Given the description of an element on the screen output the (x, y) to click on. 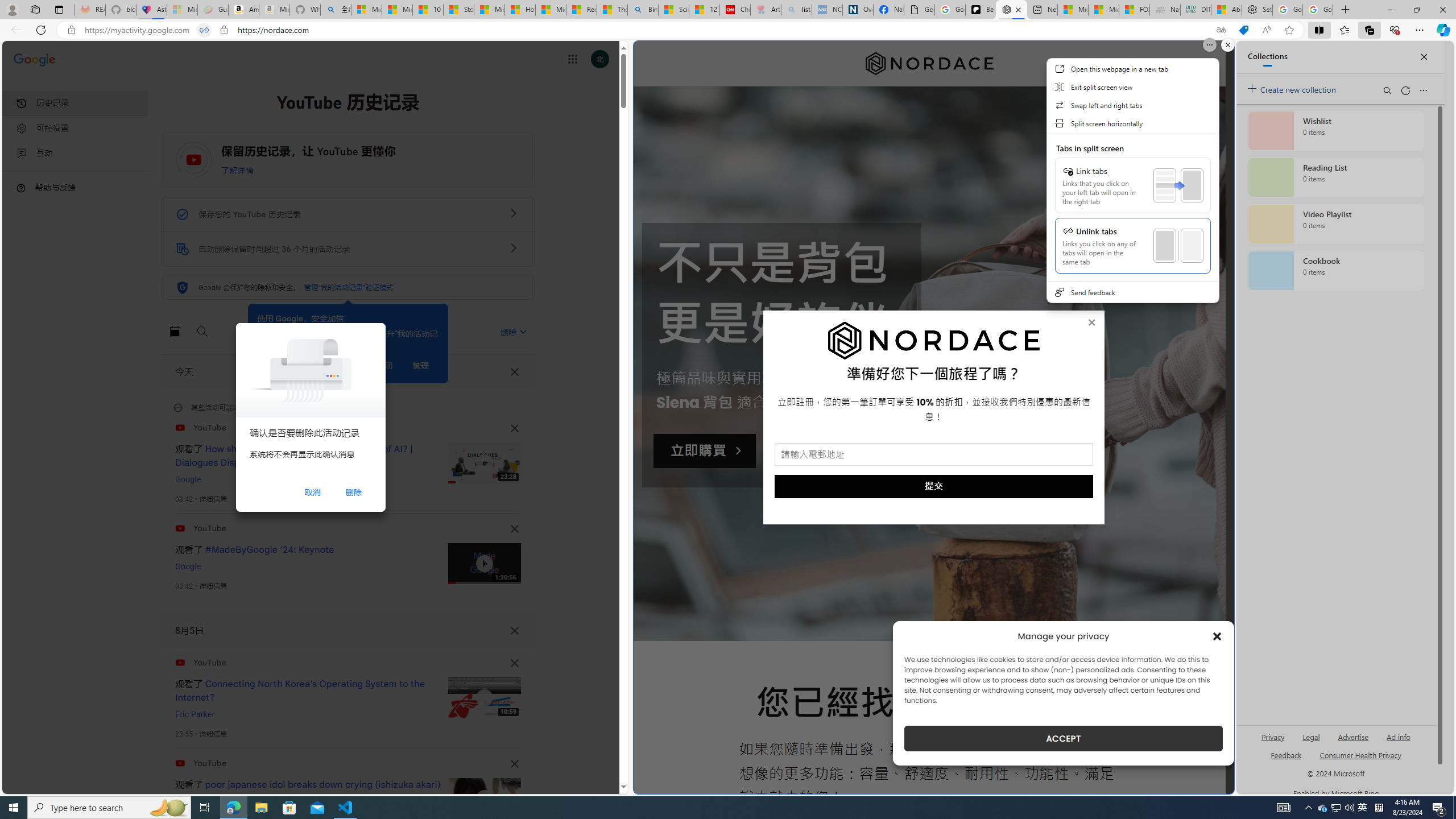
This site has coupons! Shopping in Microsoft Edge (1243, 29)
Split screen horizontally (1132, 123)
Tabs in split screen (203, 29)
12 Popular Science Lies that Must be Corrected (704, 9)
Google Analytics Opt-out Browser Add-on Download Page (919, 9)
Aberdeen, Hong Kong SAR hourly forecast | Microsoft Weather (1226, 9)
